Given the description of an element on the screen output the (x, y) to click on. 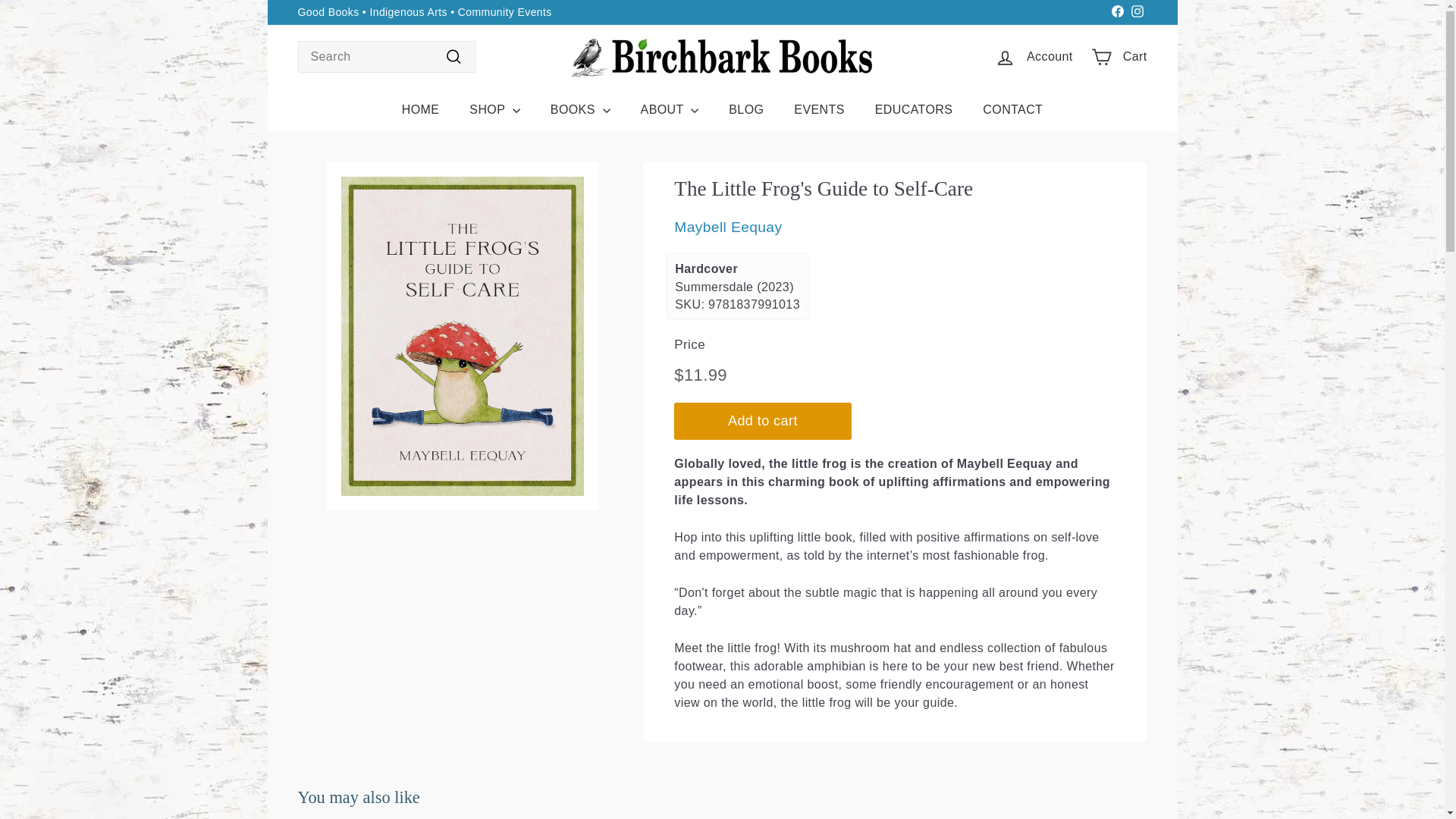
Cart (1118, 57)
instagram (1136, 10)
HOME (420, 109)
Account (1033, 57)
